Given the description of an element on the screen output the (x, y) to click on. 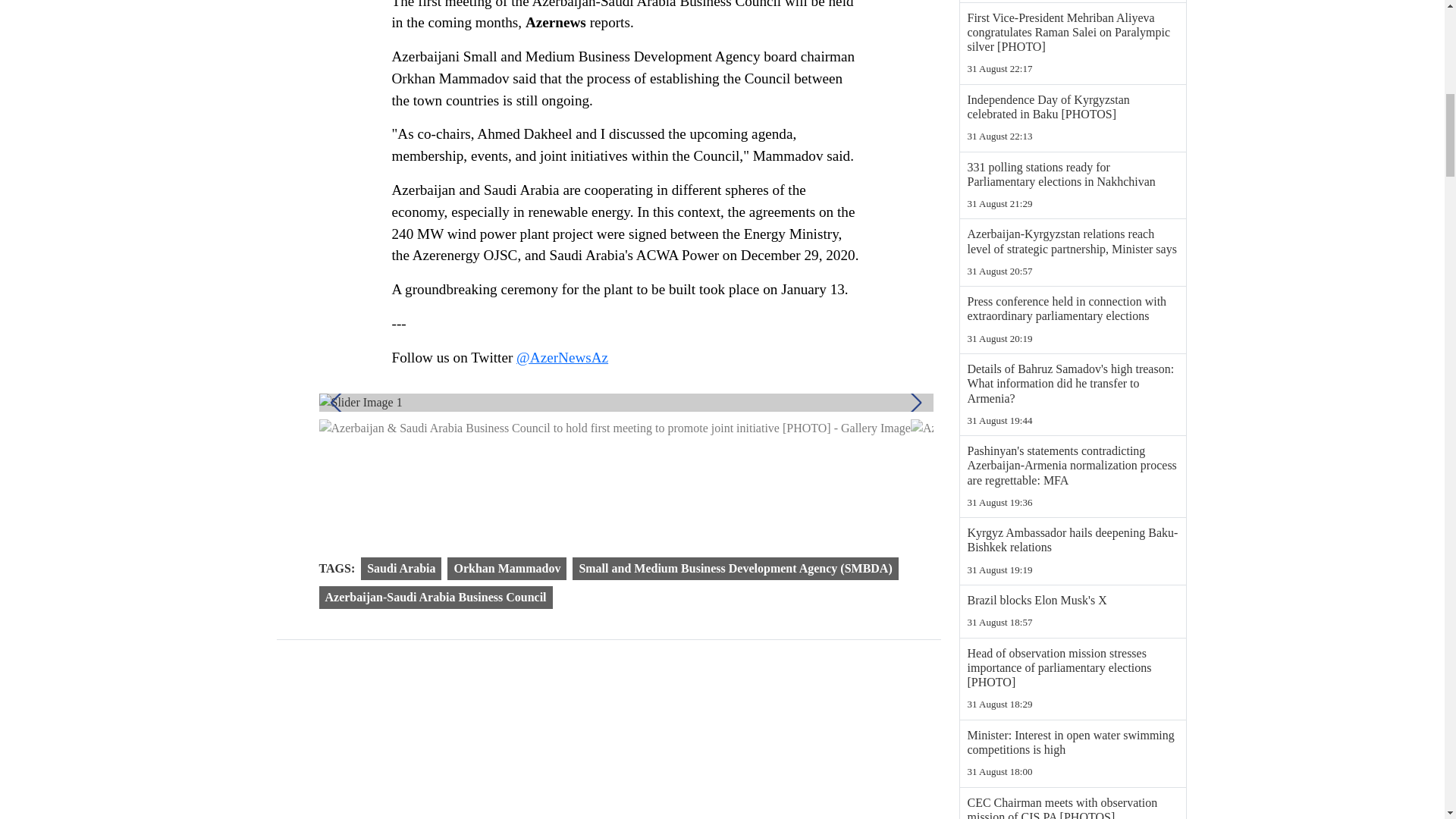
31 August 22:17 (1072, 68)
Azerbaijan-Saudi Arabia Business Council (434, 597)
31 August 22:13 (1072, 136)
Orkhan Mammadov (506, 568)
Saudi Arabia (401, 568)
